Given the description of an element on the screen output the (x, y) to click on. 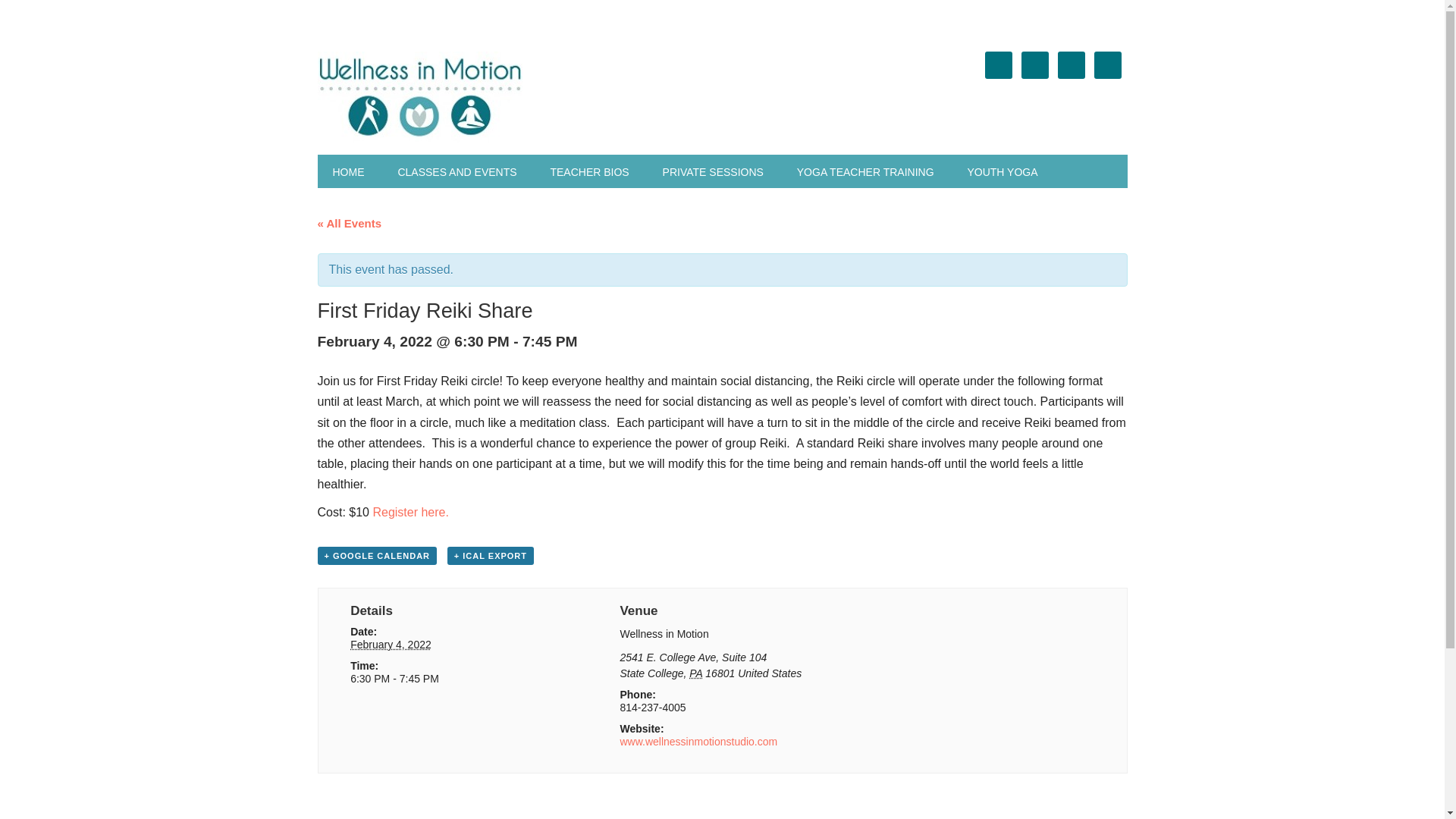
Add to Google Calendar (376, 556)
HOME (347, 171)
WELLNESS IN MOTION - STATE COLLEGE YOGA STUDIO (453, 96)
TEACHER BIOS (588, 171)
Pennsylvania (694, 673)
YOUTH YOGA (1002, 171)
PRIVATE SESSIONS (712, 171)
YOGA TEACHER TRAINING (865, 171)
2022-02-04 (390, 644)
Download .ics file (490, 556)
